Given the description of an element on the screen output the (x, y) to click on. 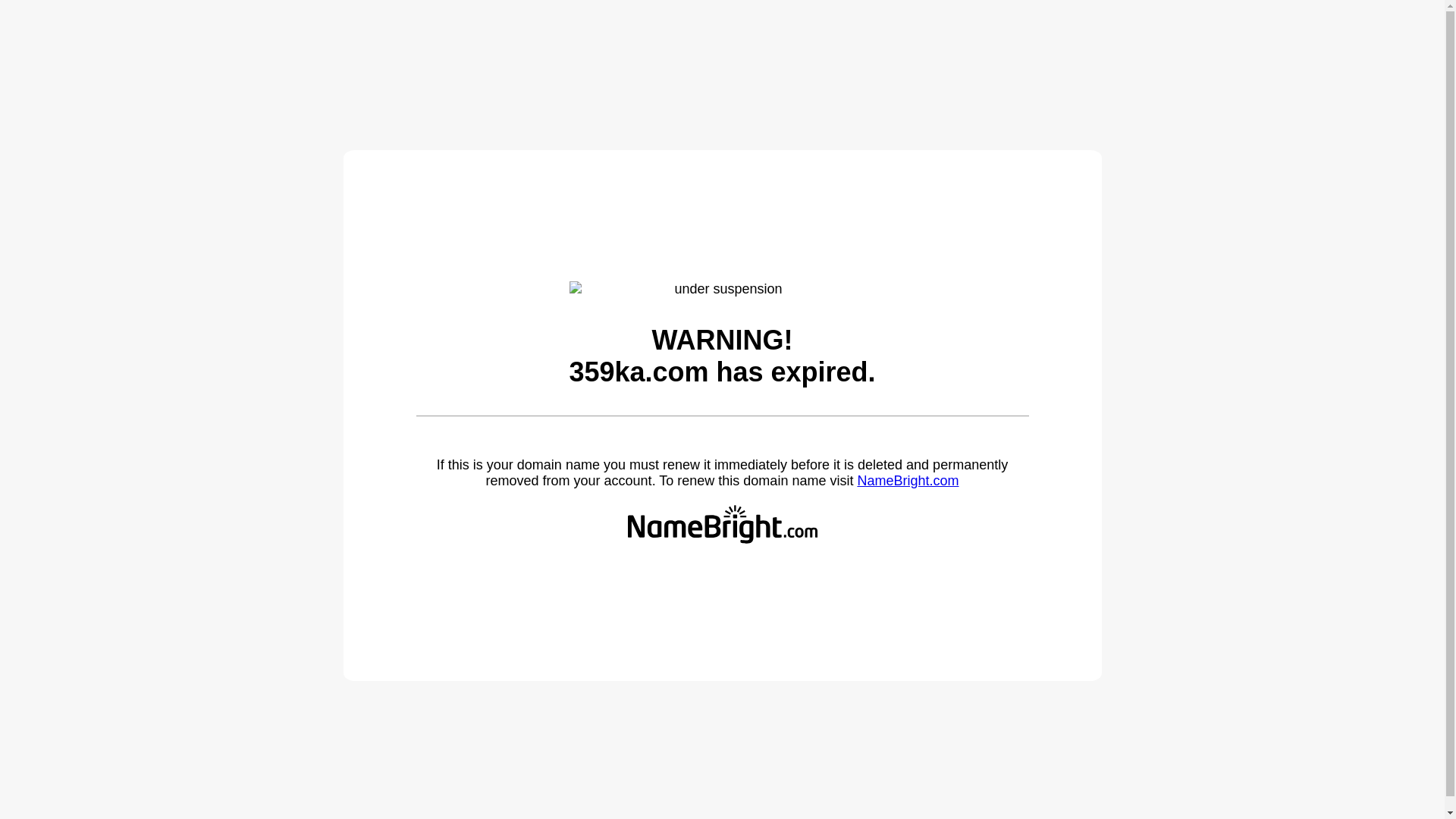
NameBright.com Element type: text (907, 480)
